Given the description of an element on the screen output the (x, y) to click on. 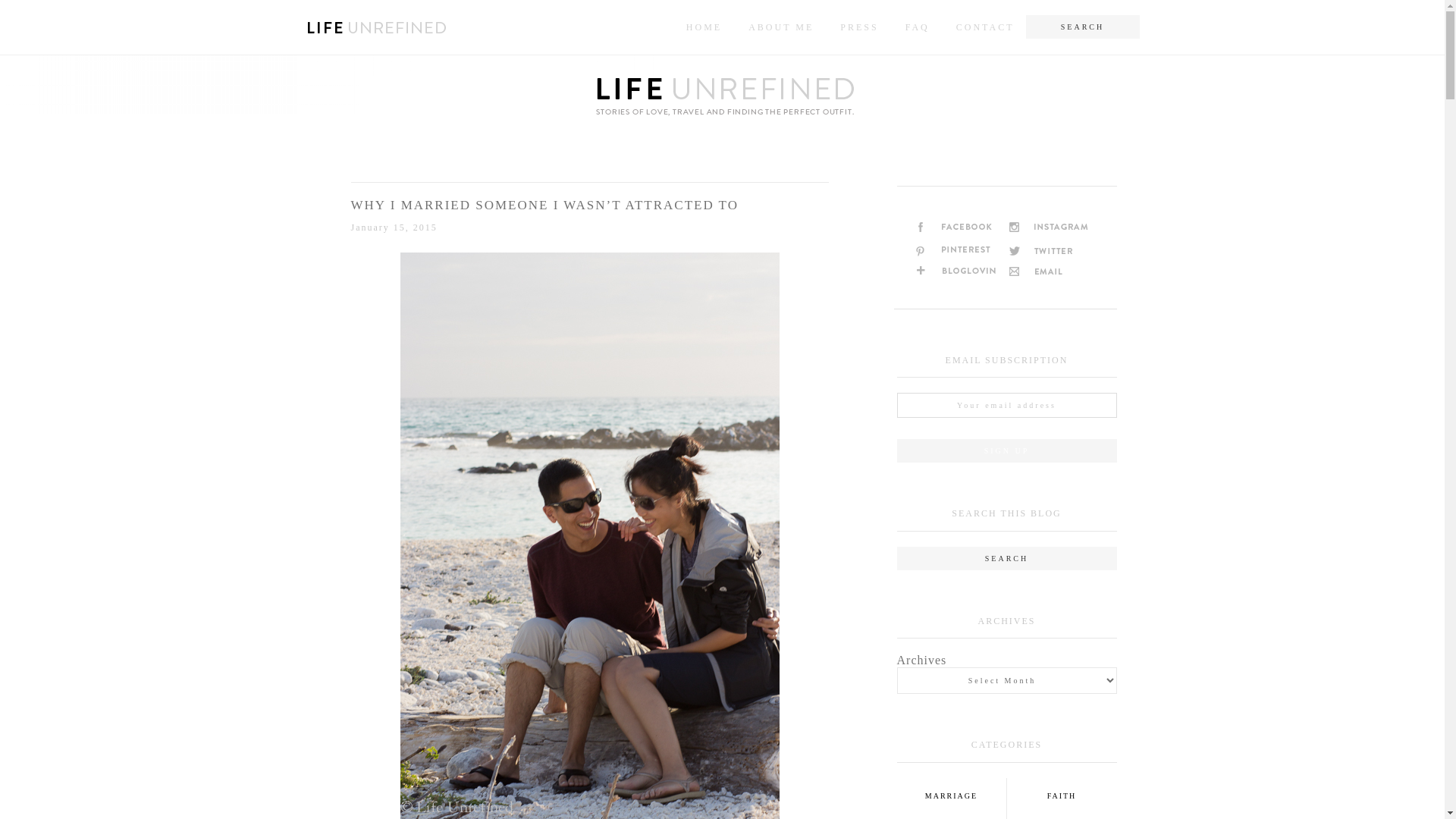
FAITH (1061, 795)
MARRIAGE (950, 795)
ABOUT ME (780, 27)
Sign up (1006, 450)
HOME (704, 27)
Search (1123, 553)
PRESS (858, 27)
Sign up (1006, 450)
Life Unrefined (721, 98)
CONTACT (985, 27)
Search (1123, 553)
